Given the description of an element on the screen output the (x, y) to click on. 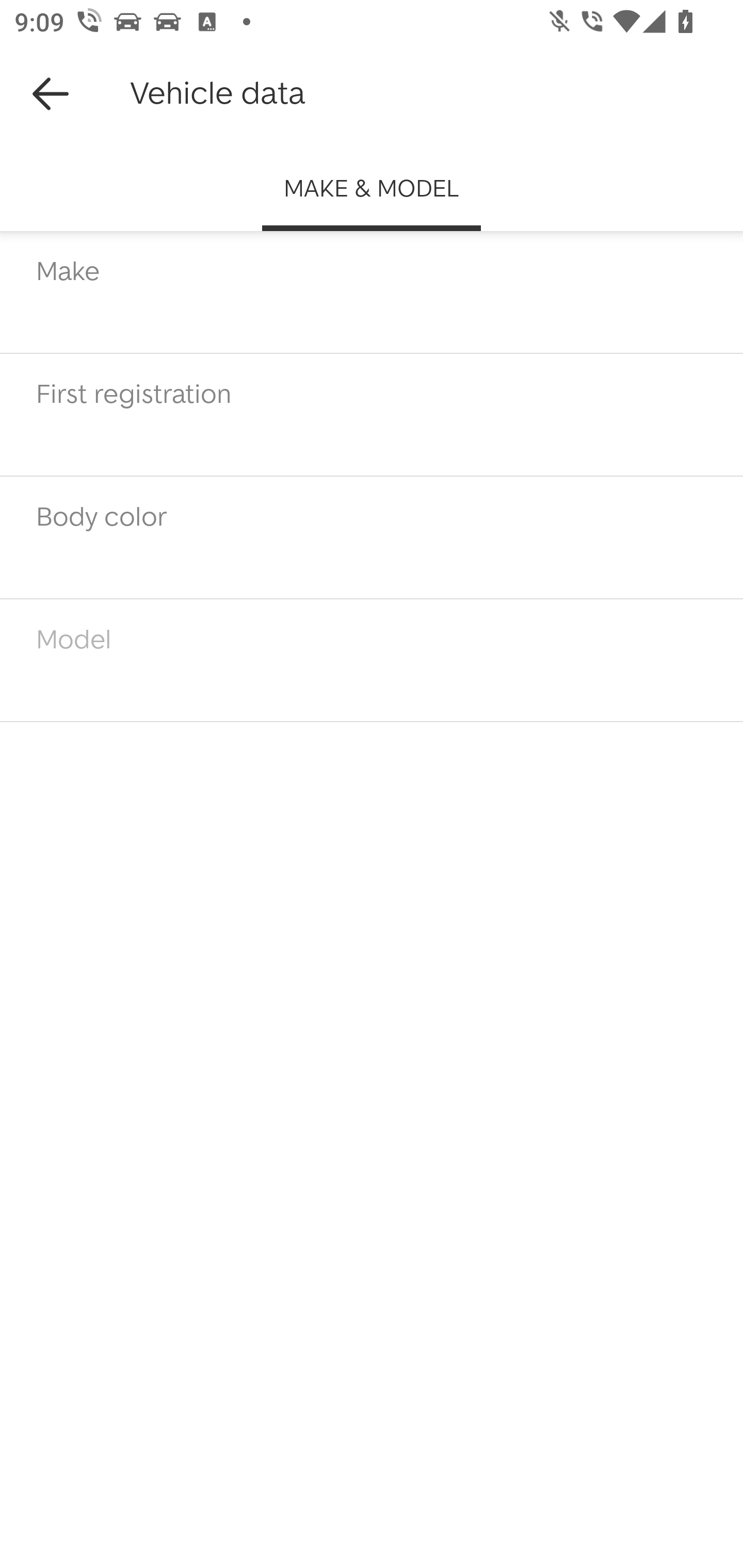
Navigate up (50, 93)
BRAND Make (371, 292)
INITIAL_REGISTRATION First registration (371, 415)
BODY_COLOR Body color (371, 537)
MODEL Model (371, 660)
